Given the description of an element on the screen output the (x, y) to click on. 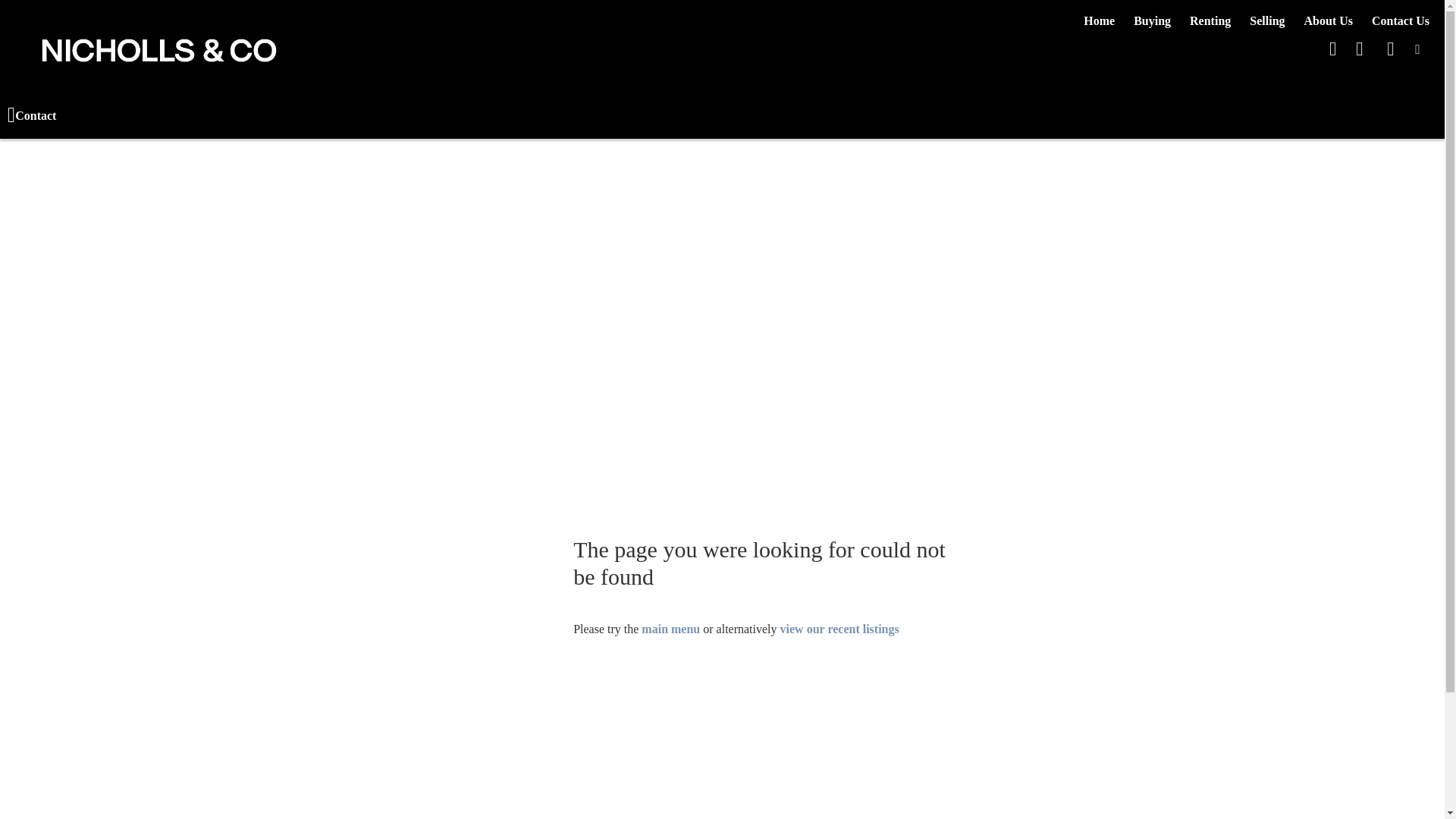
view our recent listings Element type: text (839, 628)
About Us Element type: text (1328, 21)
Contact Element type: text (31, 115)
Buying Element type: text (1151, 21)
Contact Us Element type: text (1400, 21)
Home Element type: text (1098, 21)
Renting Element type: text (1209, 21)
Selling Element type: text (1266, 21)
main menu Element type: text (670, 628)
